Given the description of an element on the screen output the (x, y) to click on. 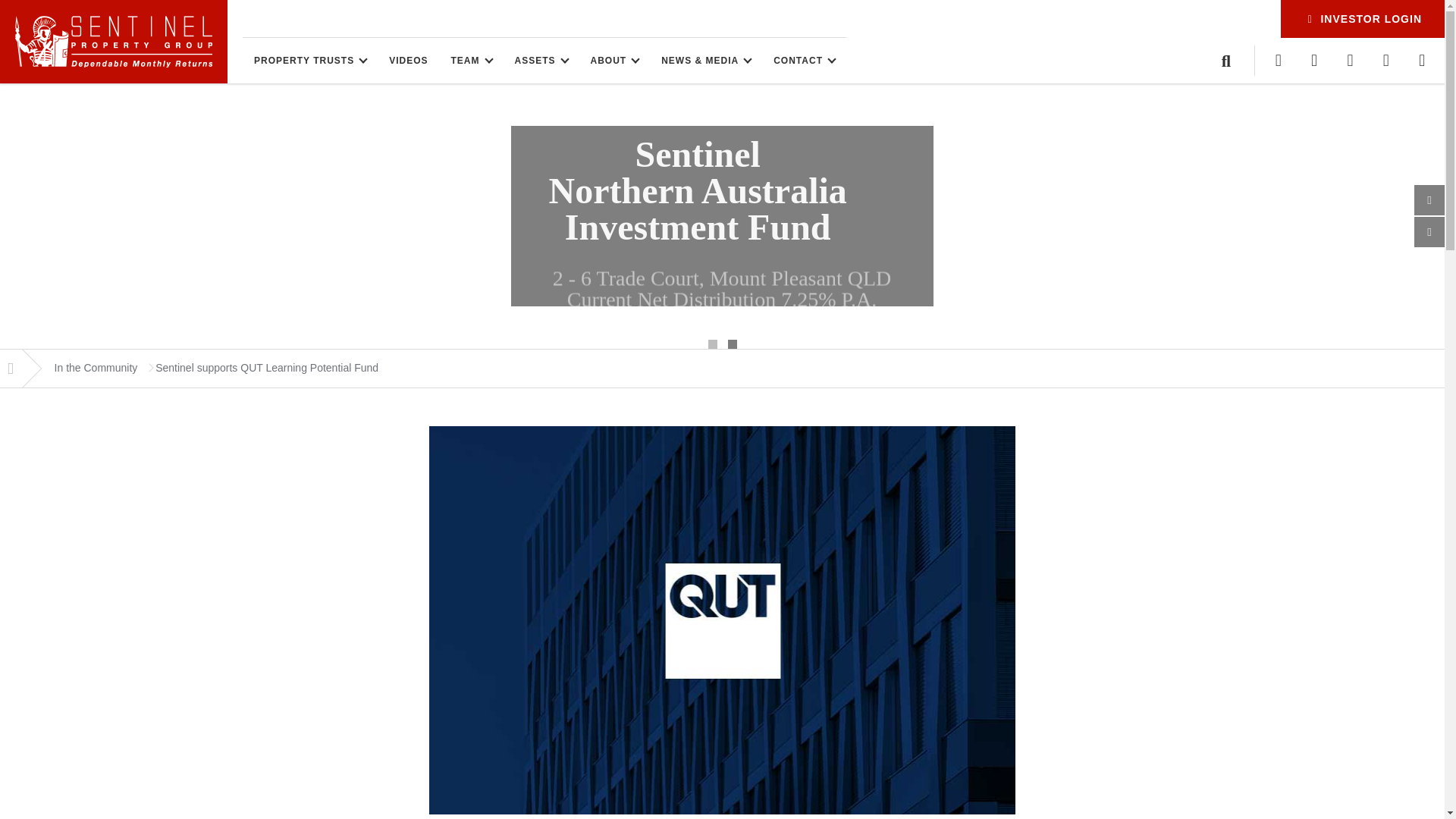
Go to the In the Community category archives. (95, 368)
Go to Sentinel. (10, 368)
